Given the description of an element on the screen output the (x, y) to click on. 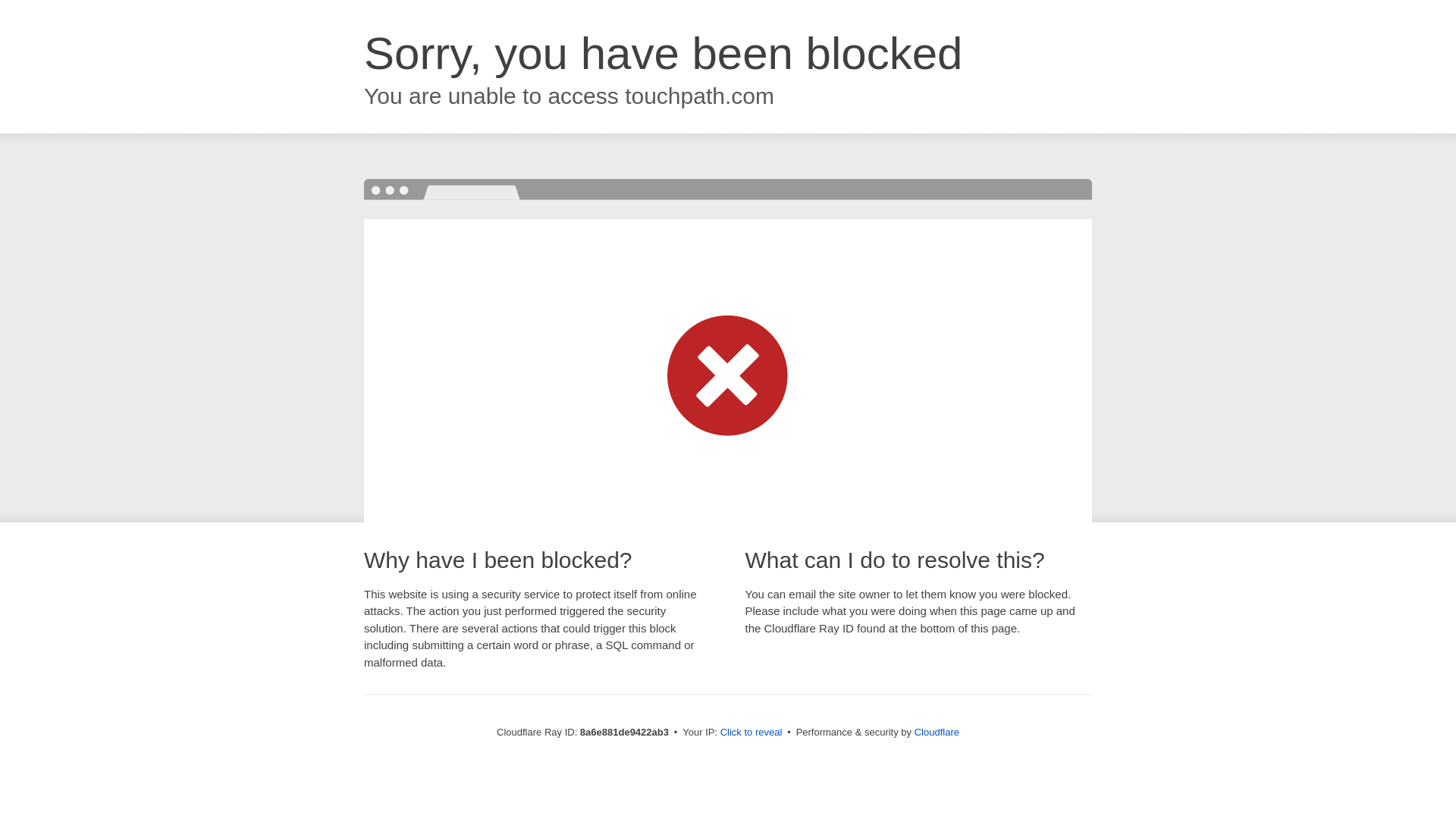
Cloudflare (936, 731)
Click to reveal (751, 732)
